Given the description of an element on the screen output the (x, y) to click on. 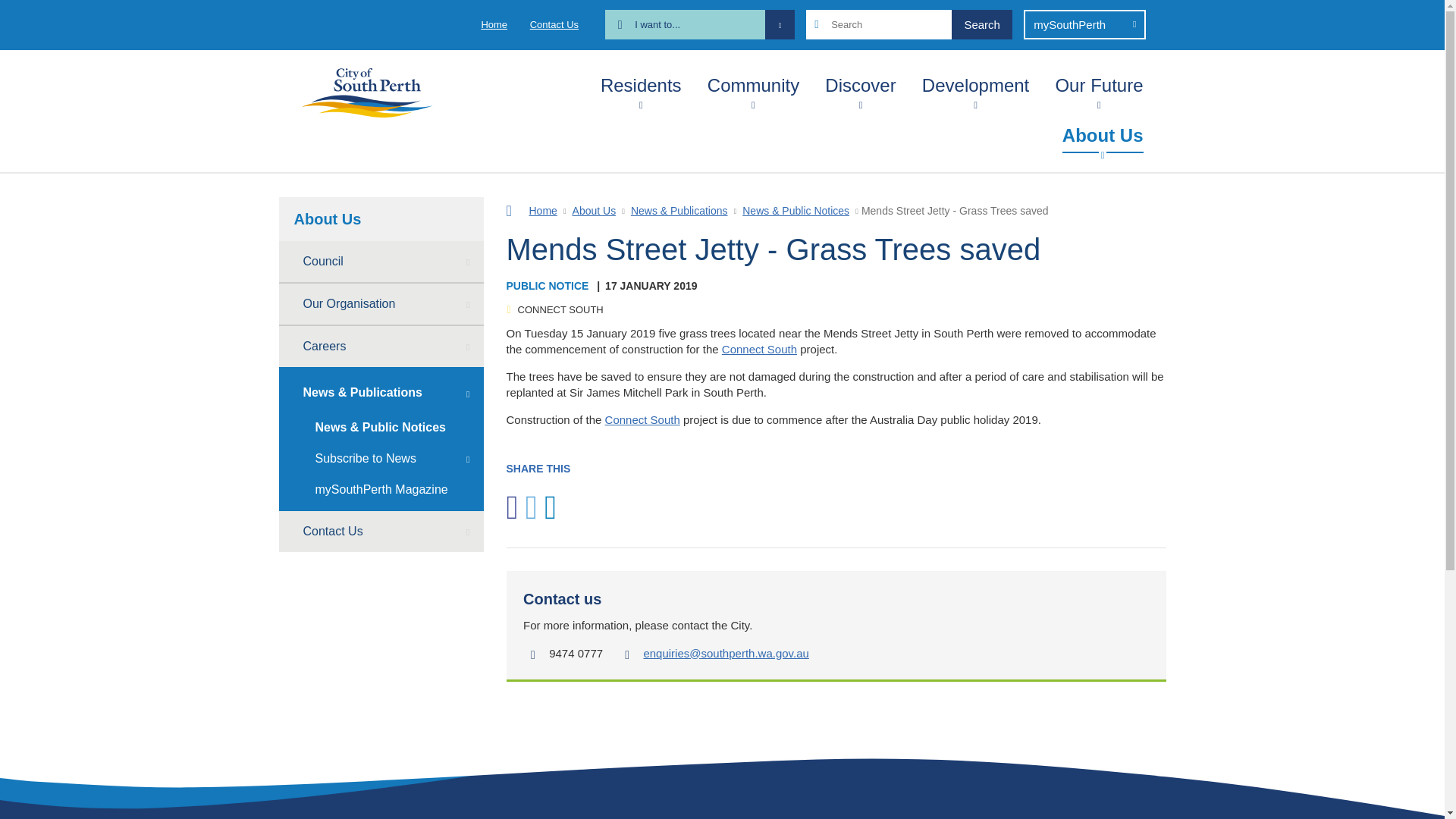
Contact Us (553, 24)
mySouthPerth (1084, 24)
Search (981, 24)
Residents (640, 82)
Search input (908, 24)
Home (493, 24)
